Given the description of an element on the screen output the (x, y) to click on. 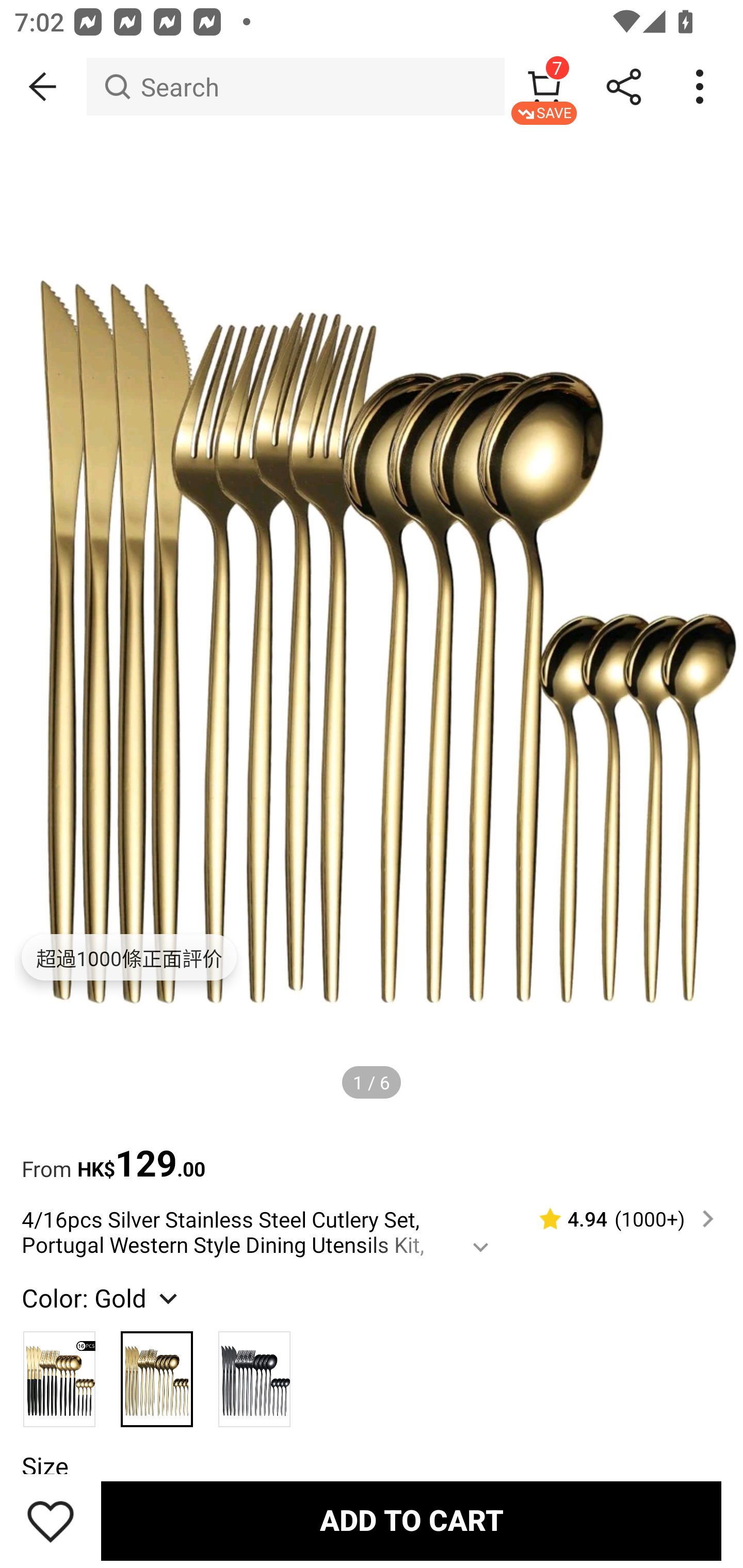
BACK (43, 86)
7 SAVE (543, 87)
Search (295, 87)
1 / 6 (371, 1082)
From  HK$129.00 (371, 1152)
4.94 (1000‎+) (617, 1219)
Color: Gold (101, 1297)
Black (59, 1369)
Gold (156, 1369)
Black (254, 1369)
Size (44, 1465)
ADD TO CART (411, 1520)
Save (50, 1520)
